Given the description of an element on the screen output the (x, y) to click on. 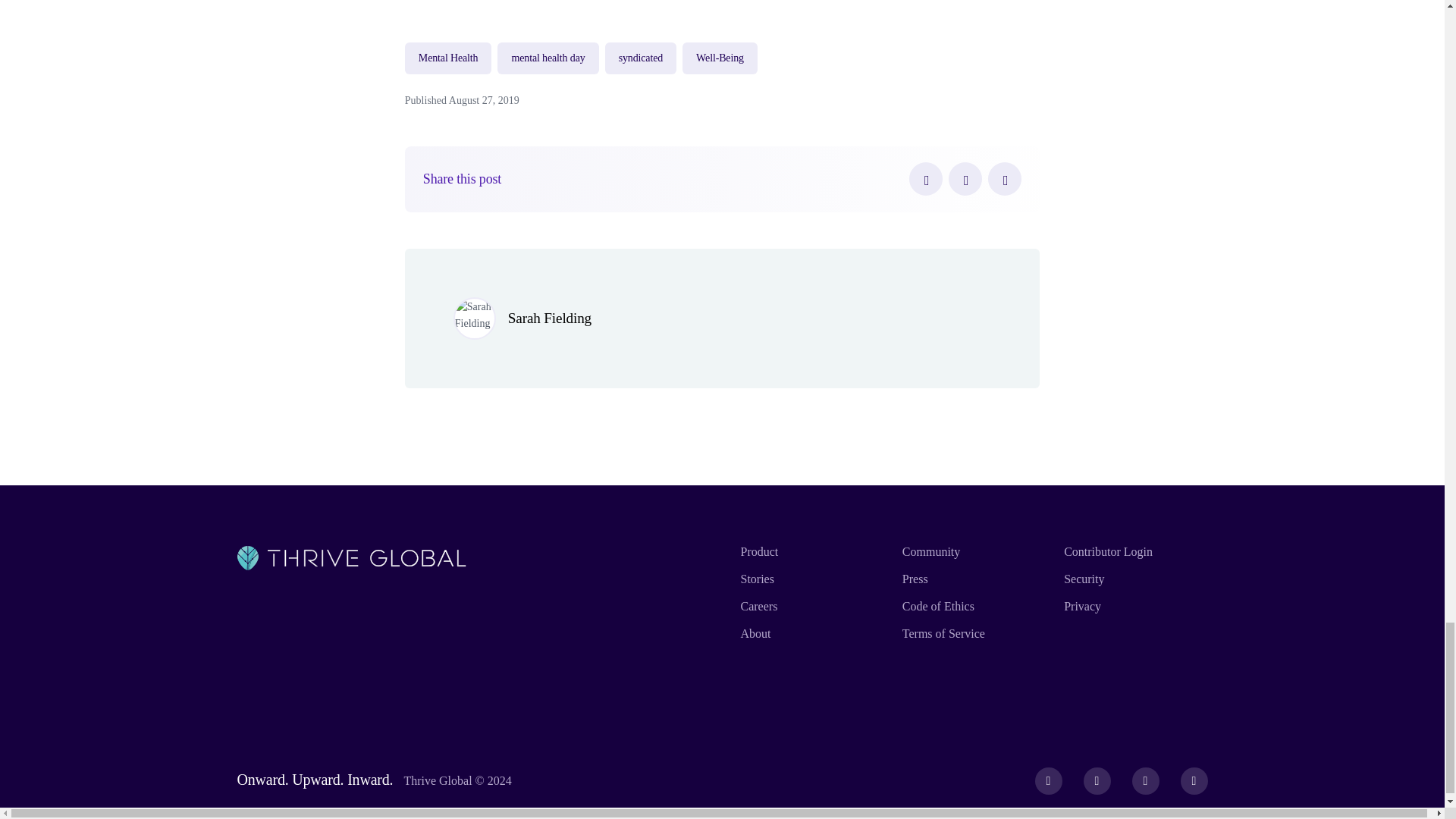
Sarah Fielding (549, 317)
Twitter (965, 178)
Facebook (925, 178)
LinkedIn (1005, 178)
